Given the description of an element on the screen output the (x, y) to click on. 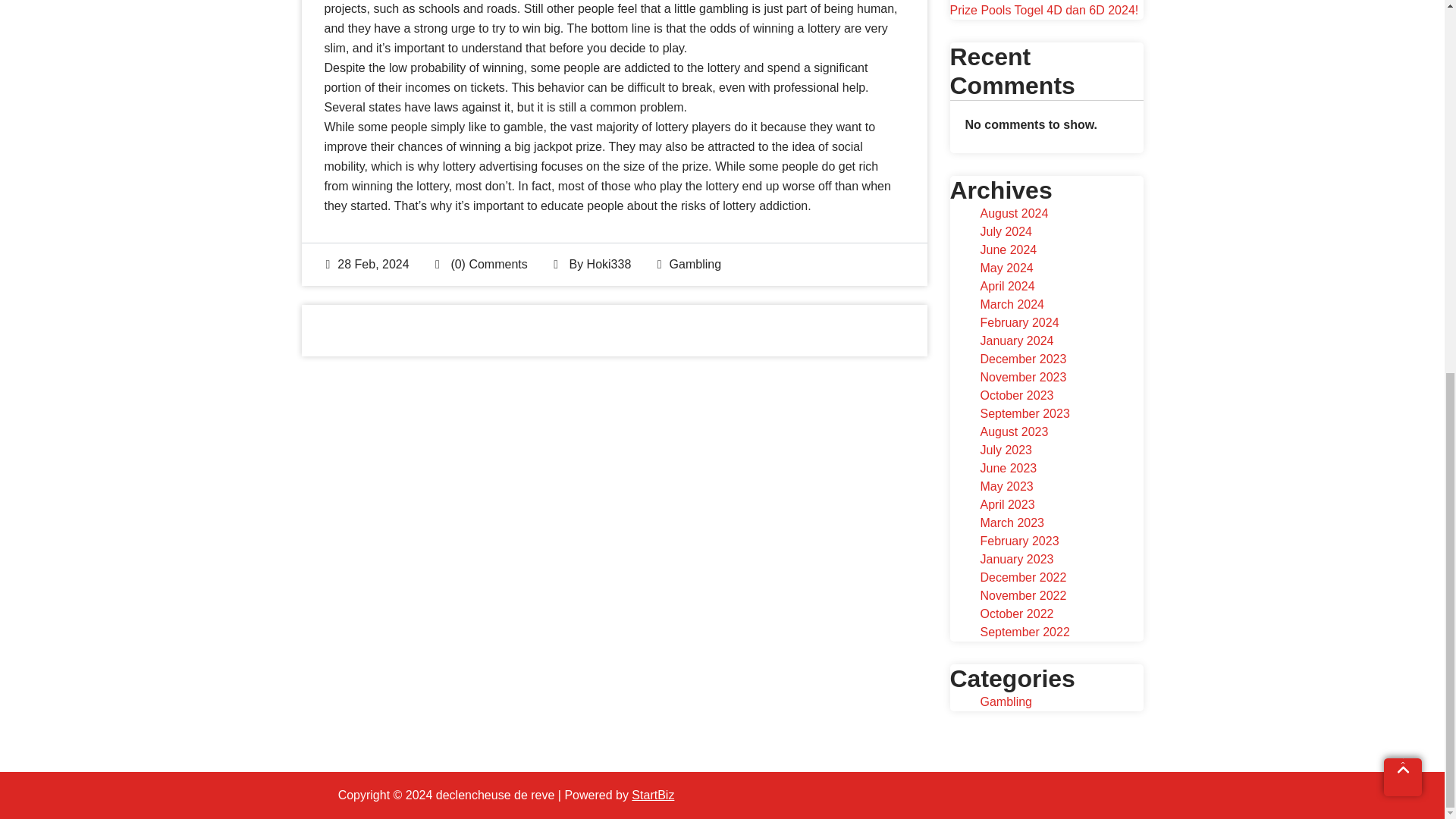
July 2023 (1005, 449)
February 2024 (1018, 322)
Hoki338 (608, 264)
Gambling (694, 264)
November 2023 (1022, 377)
May 2023 (1005, 486)
April 2024 (1006, 286)
December 2023 (1022, 358)
June 2024 (1007, 249)
August 2023 (1013, 431)
